Given the description of an element on the screen output the (x, y) to click on. 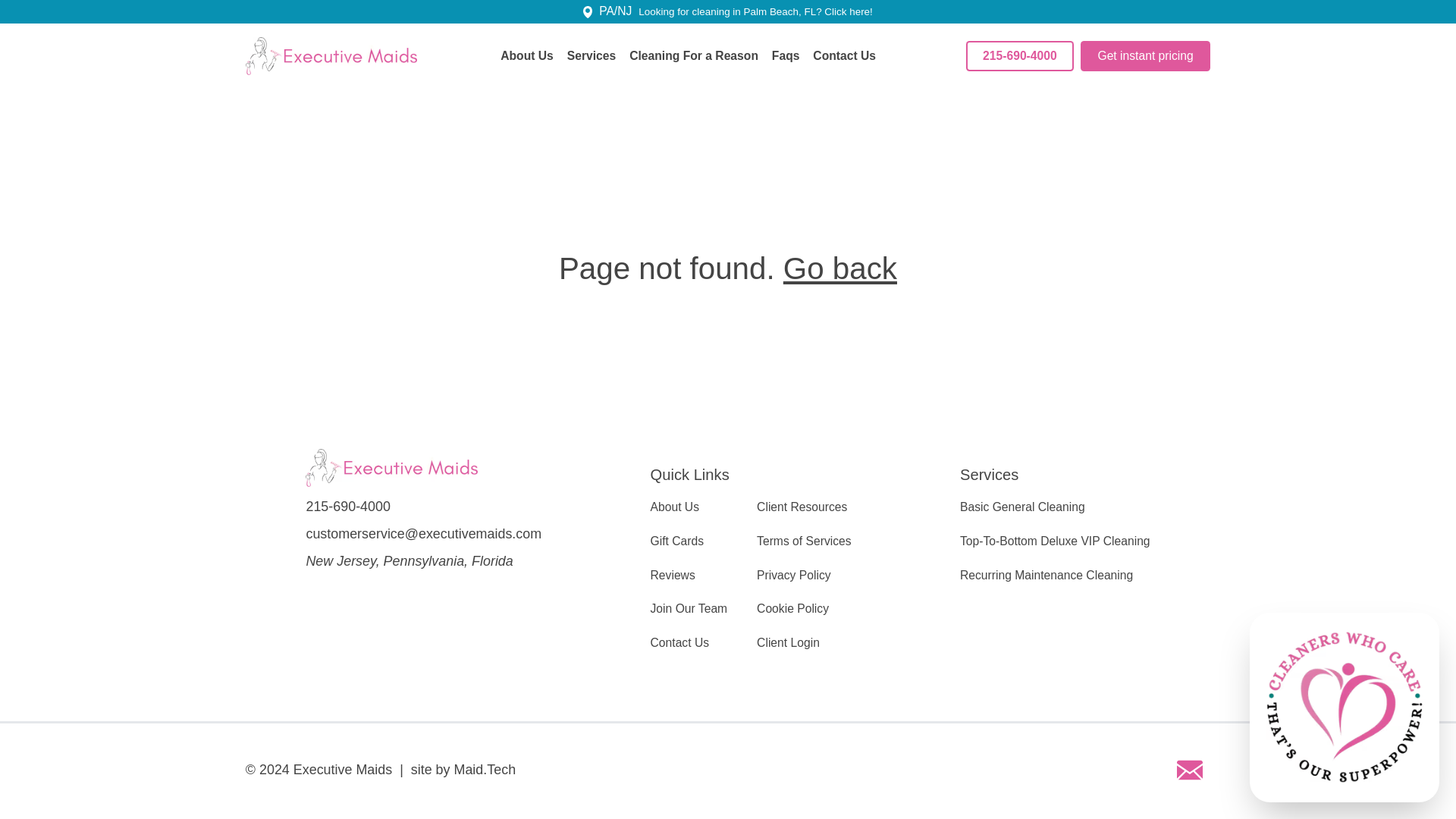
About Us (674, 506)
Terms of Services (804, 540)
Basic General Cleaning (1021, 506)
Services (591, 55)
Join Our Team (689, 608)
Client Login (788, 642)
Cookie Policy (792, 608)
Contact Us (680, 642)
site by Maid.Tech (462, 770)
215-690-4000 (423, 506)
Home (331, 55)
215-690-4000 (1020, 55)
Get instant pricing (1144, 55)
Go back (839, 267)
Faqs (785, 55)
